Given the description of an element on the screen output the (x, y) to click on. 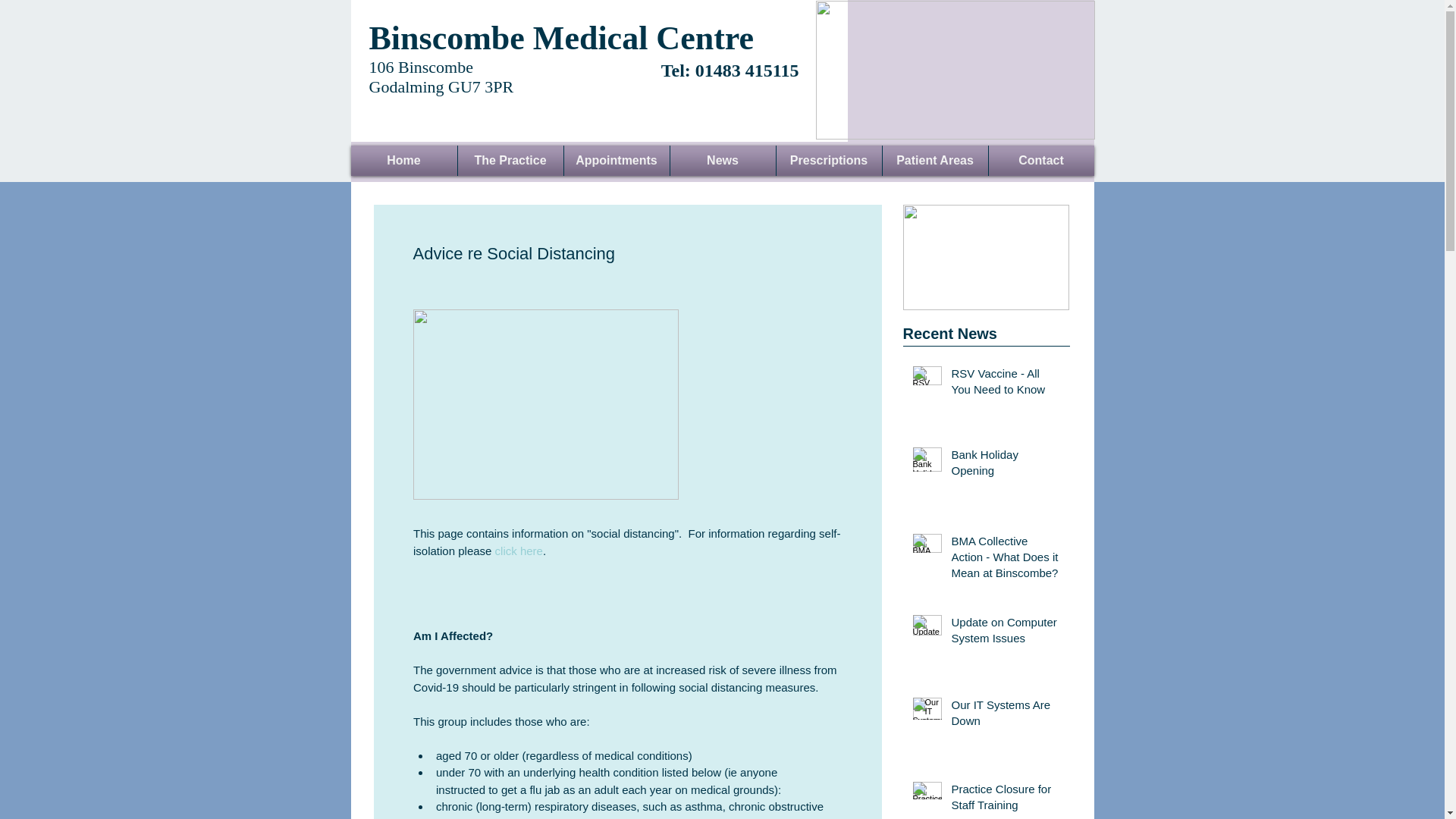
Patient Areas (935, 160)
News (722, 160)
Home (403, 160)
Contact (1041, 160)
The Practice (510, 160)
Appointments (616, 160)
Prescriptions (829, 160)
click here (518, 550)
